Given the description of an element on the screen output the (x, y) to click on. 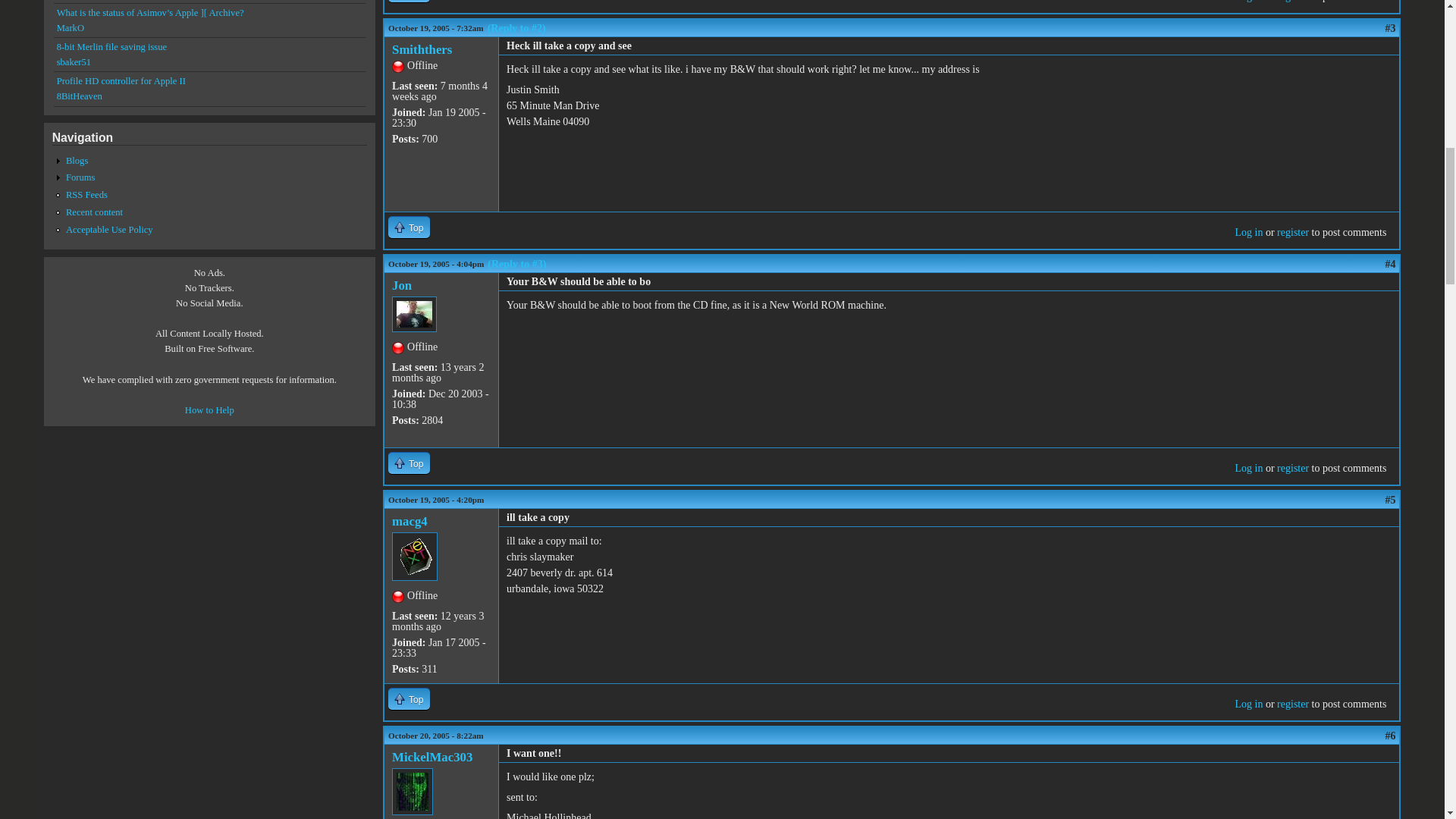
Jump to top of page (408, 1)
macg4's picture (414, 556)
Log in (1248, 1)
View user profile. (409, 521)
Smiththers (421, 49)
Top (408, 227)
View user profile. (401, 285)
Jump to top of page (408, 463)
Log in (1248, 232)
Jon's picture (413, 314)
